Given the description of an element on the screen output the (x, y) to click on. 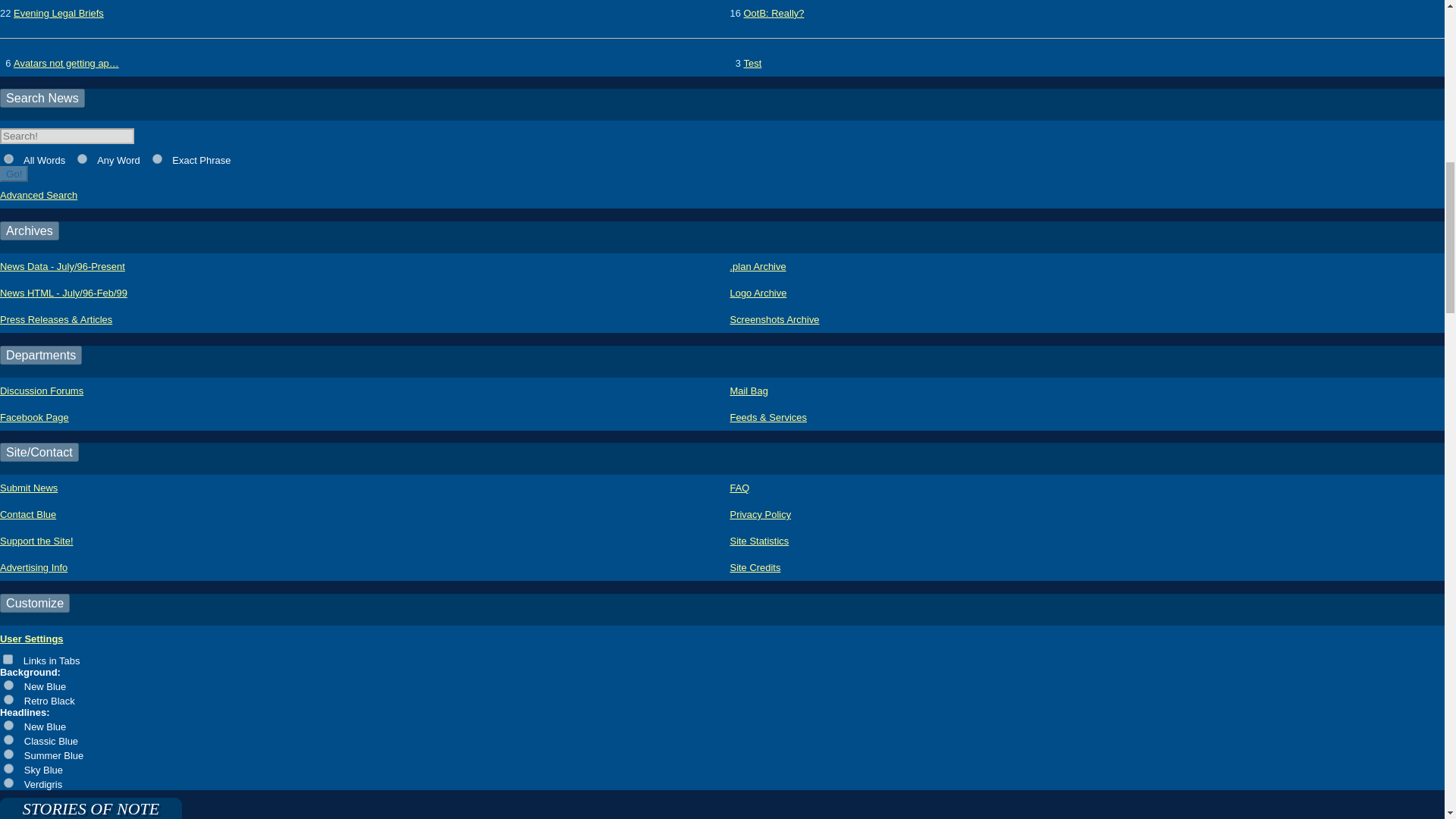
Evening Legal Briefs (58, 13)
verdigris (8, 782)
summer (8, 754)
OotB: Really? (774, 13)
3 (156, 158)
sky (8, 768)
on (7, 659)
default (8, 725)
default (8, 685)
2 (82, 158)
